Given the description of an element on the screen output the (x, y) to click on. 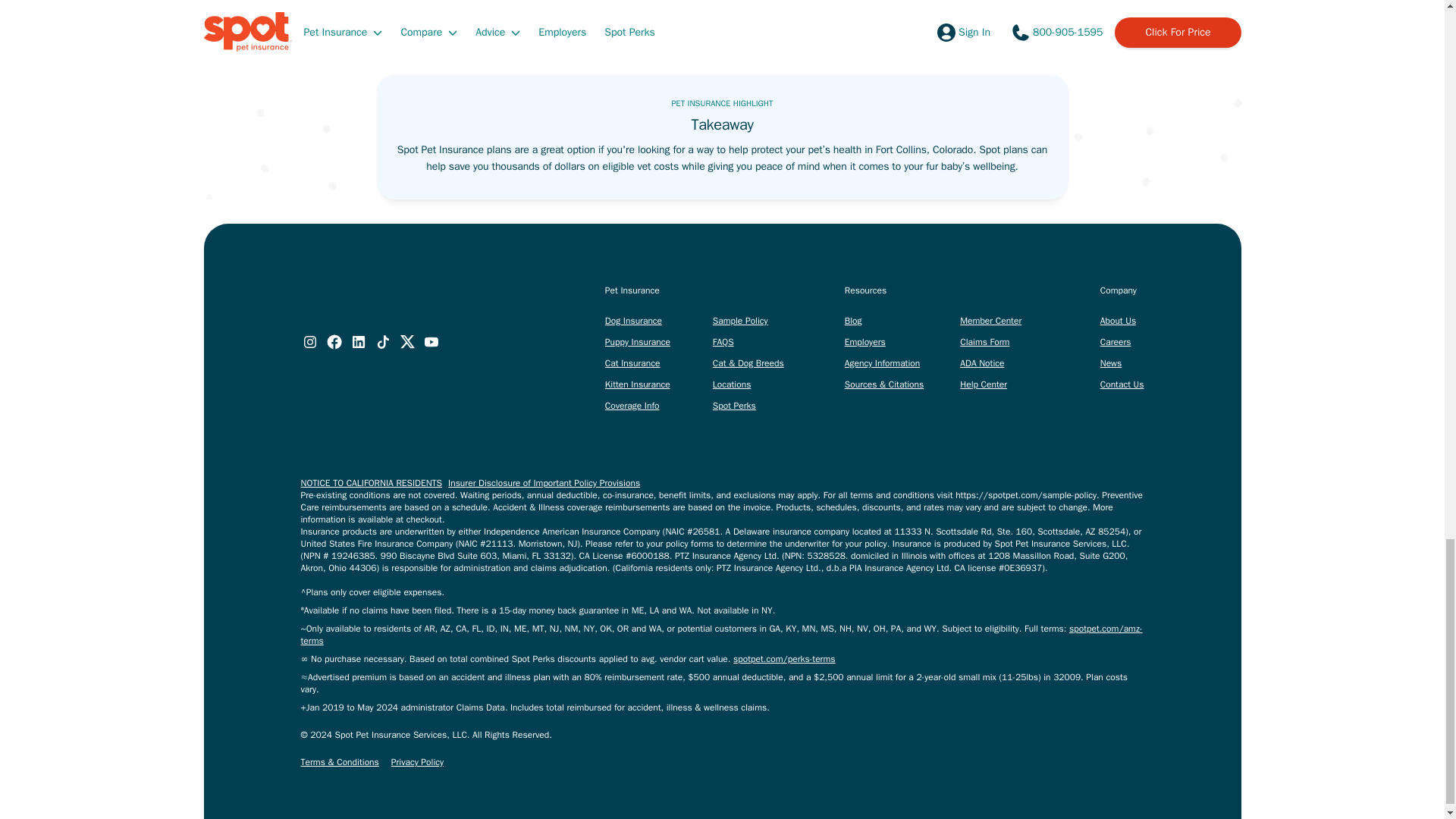
FAQS (723, 341)
Spot on TikTok (381, 341)
Puppy Insurance (637, 341)
Kitten Insurance (637, 384)
Spot on Instagram (308, 341)
Spot on LinkedIn (357, 341)
Cat Insurance (633, 363)
Spot on X (405, 341)
Coverage Info (632, 405)
Spot on Facebook (333, 341)
